Given the description of an element on the screen output the (x, y) to click on. 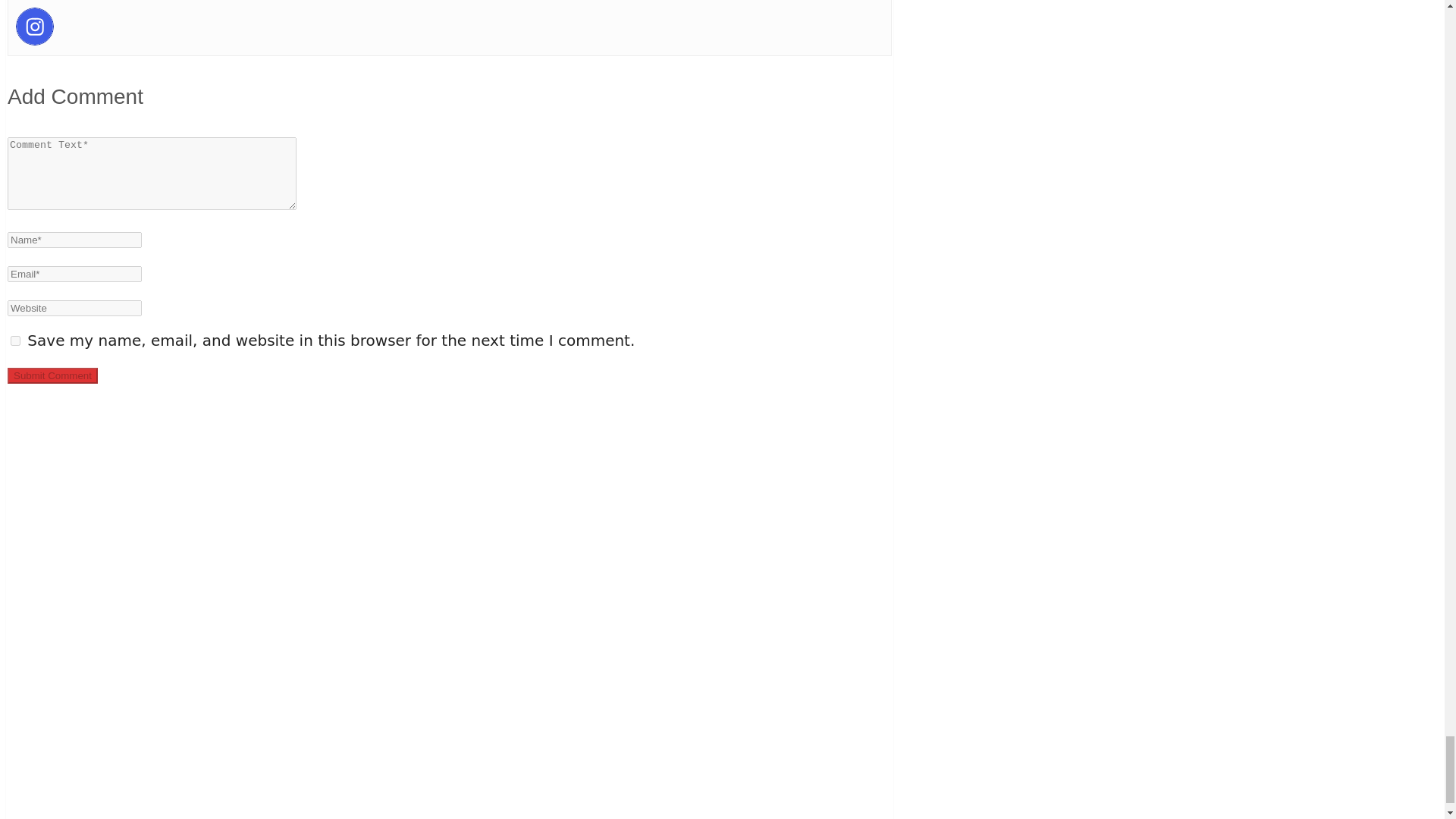
Submit Comment (52, 375)
yes (15, 340)
